Given the description of an element on the screen output the (x, y) to click on. 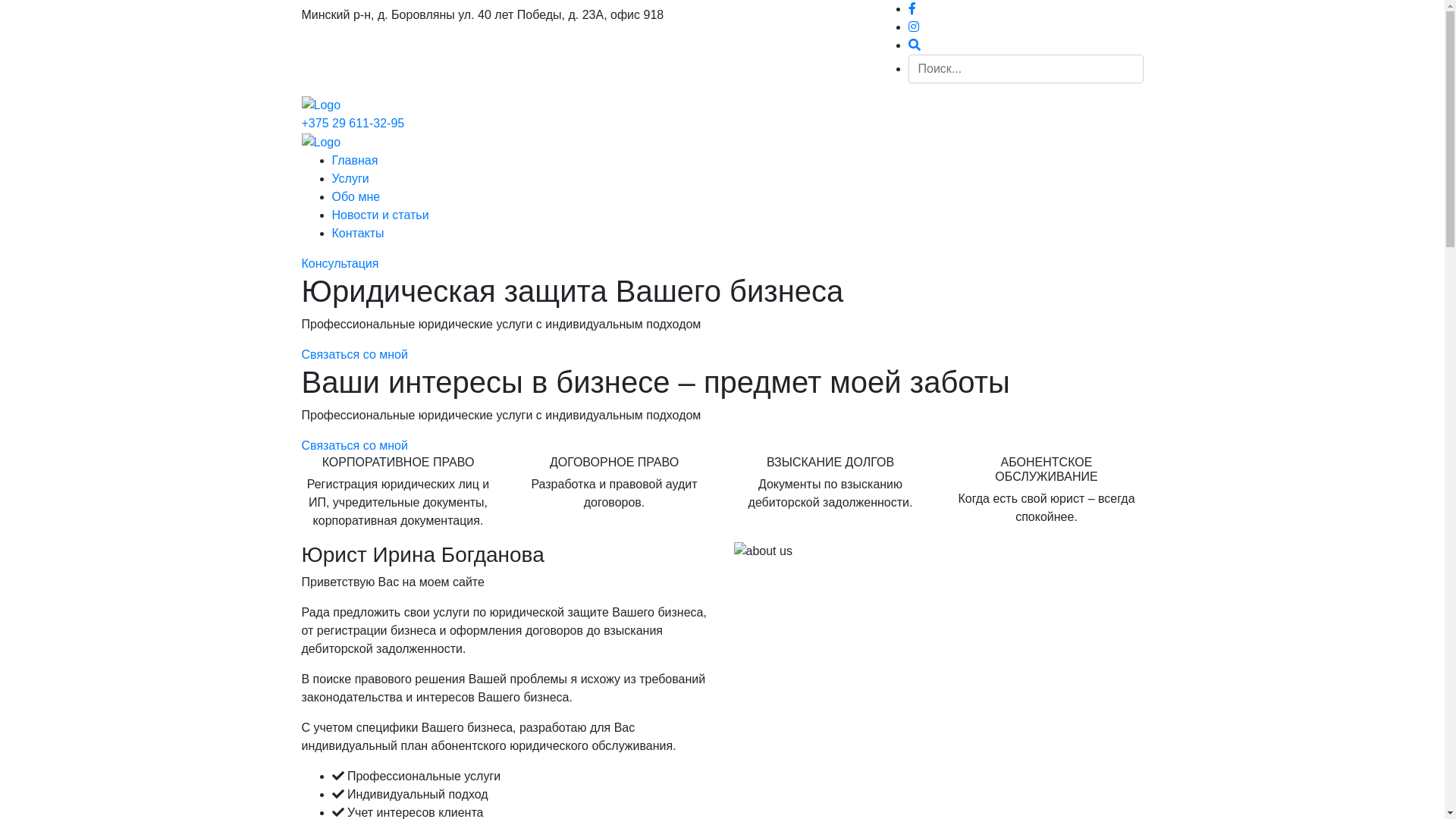
+375 29 611-32-95 Element type: text (352, 122)
